Given the description of an element on the screen output the (x, y) to click on. 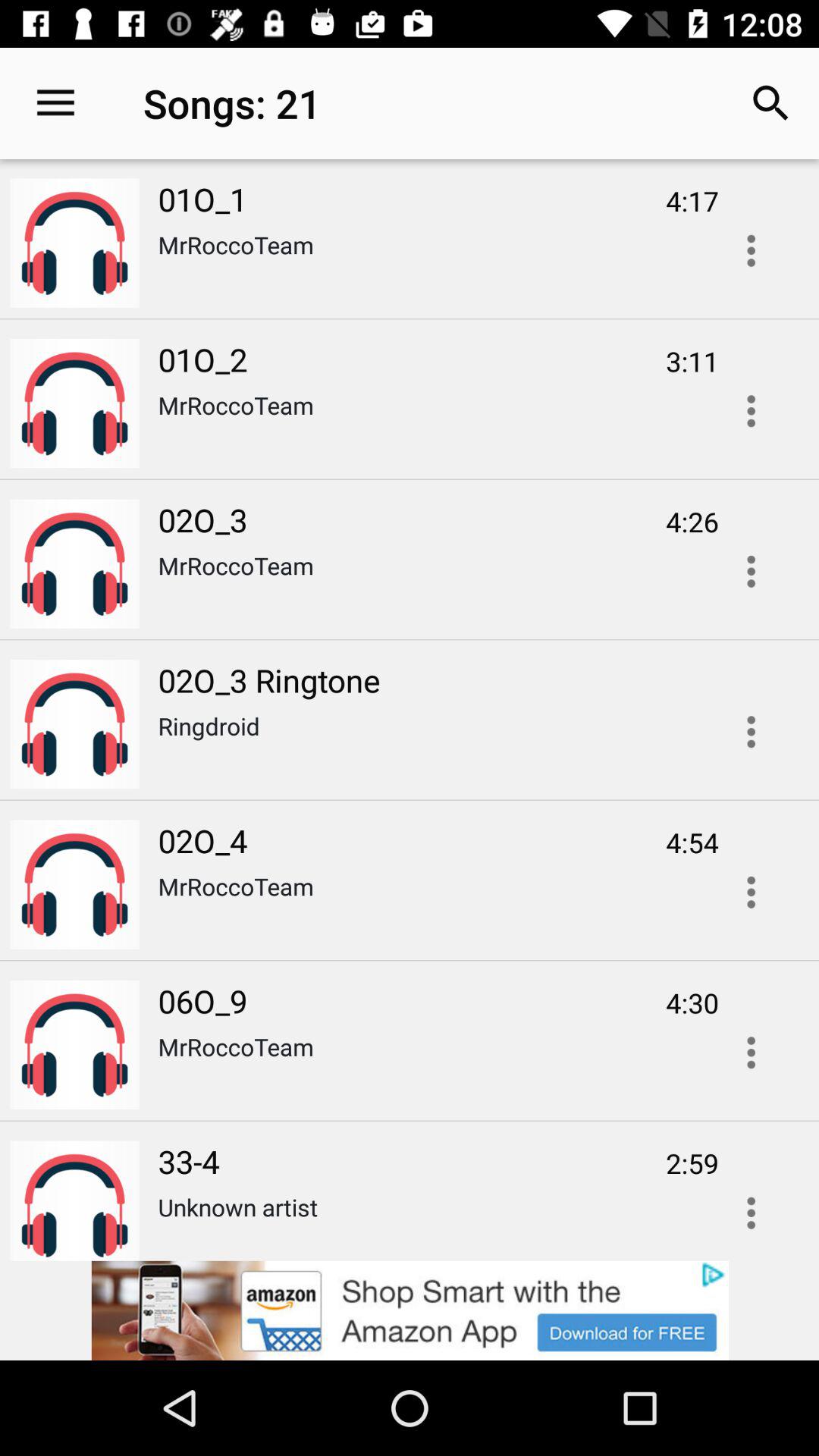
options (750, 891)
